Given the description of an element on the screen output the (x, y) to click on. 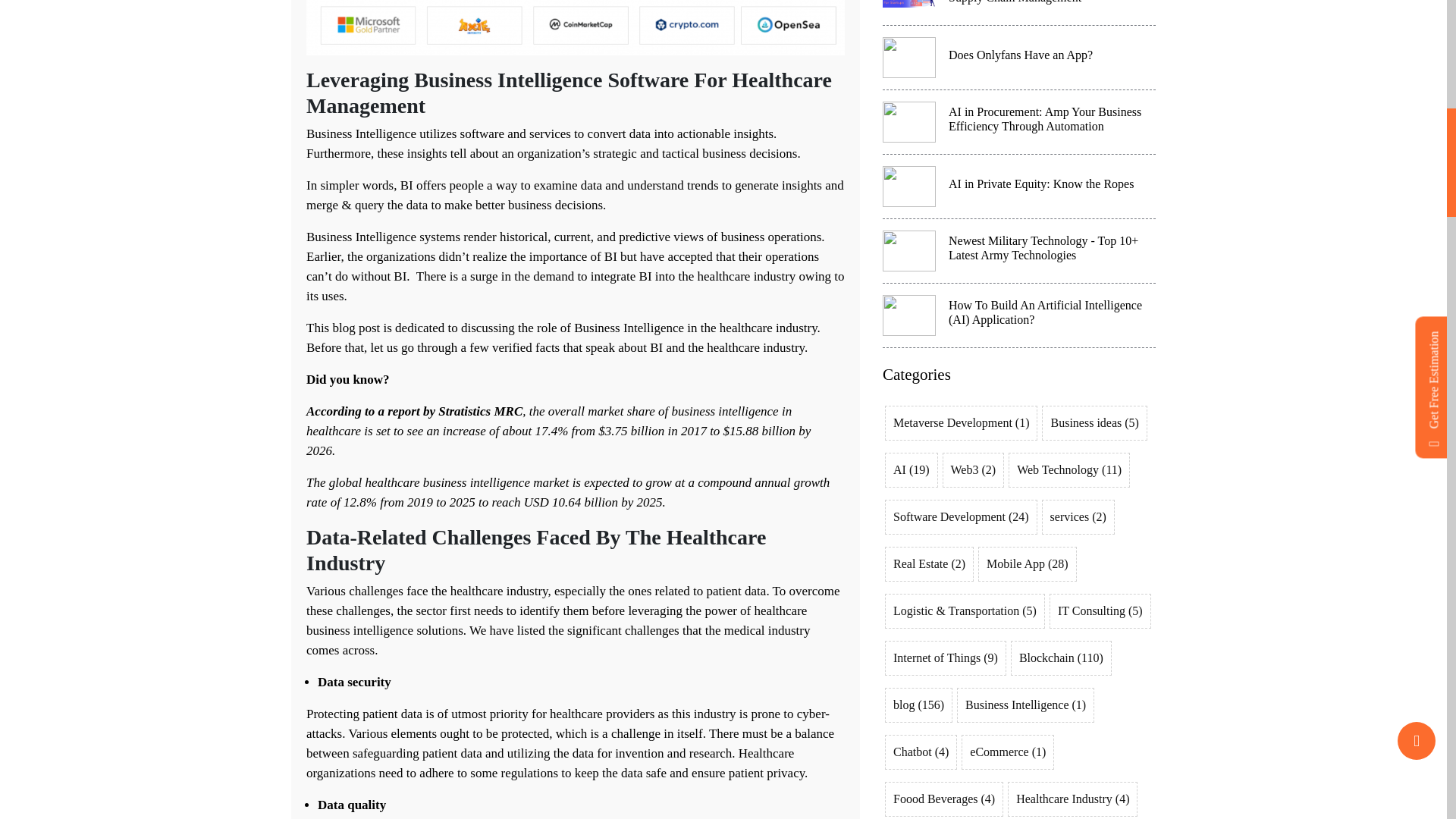
Does Onlyfans Have an App? (1019, 57)
AI in Private Equity: Know the Ropes (1019, 186)
Revitalize Your Start-up Growth with Supply Chain Management (1019, 12)
